Given the description of an element on the screen output the (x, y) to click on. 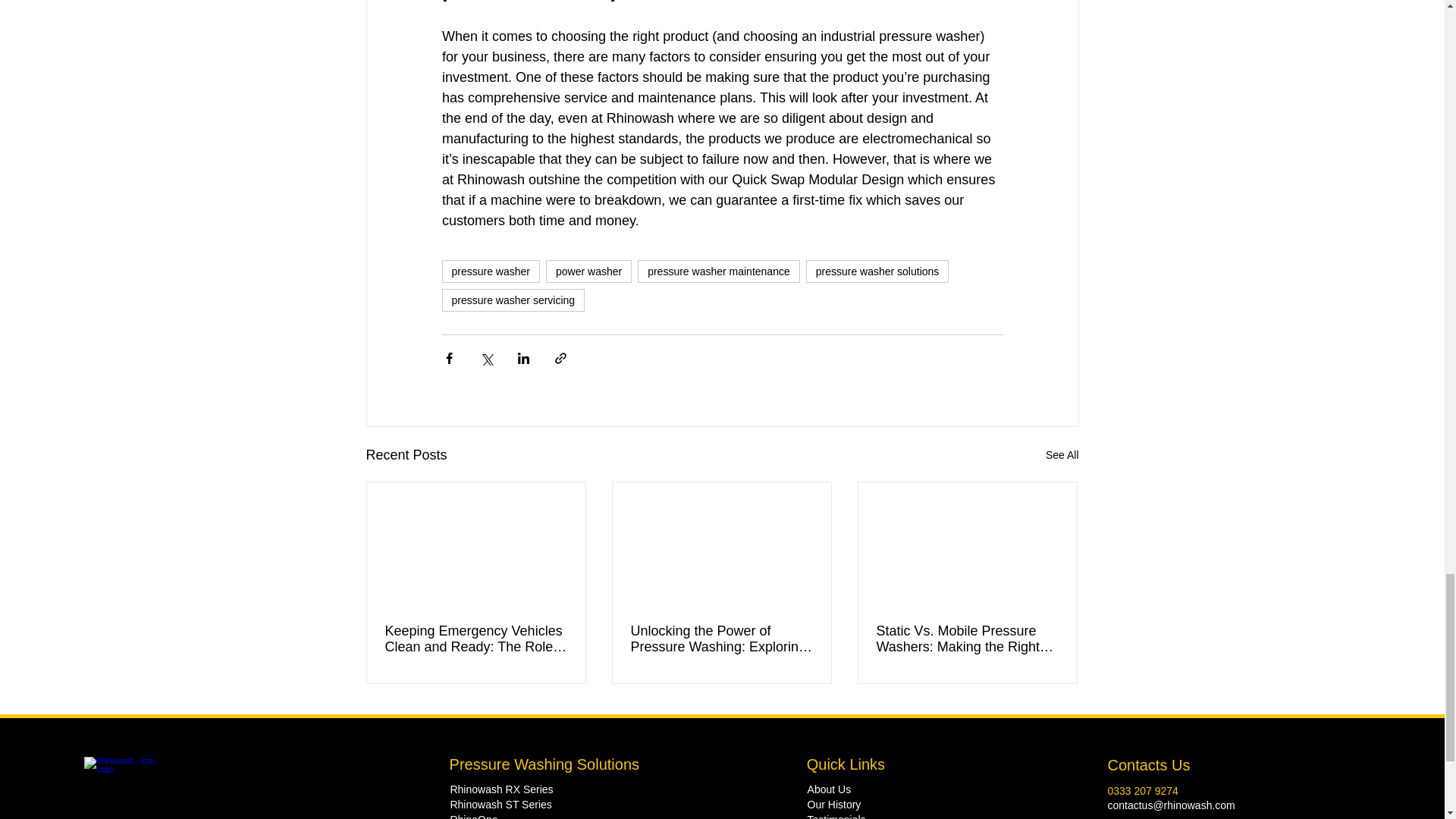
pressure washer solutions (877, 271)
pressure washer (490, 271)
See All (1061, 455)
pressure washer maintenance (718, 271)
Static Vs. Mobile Pressure Washers: Making the Right Choice (967, 639)
power washer (588, 271)
pressure washer servicing (513, 300)
